Given the description of an element on the screen output the (x, y) to click on. 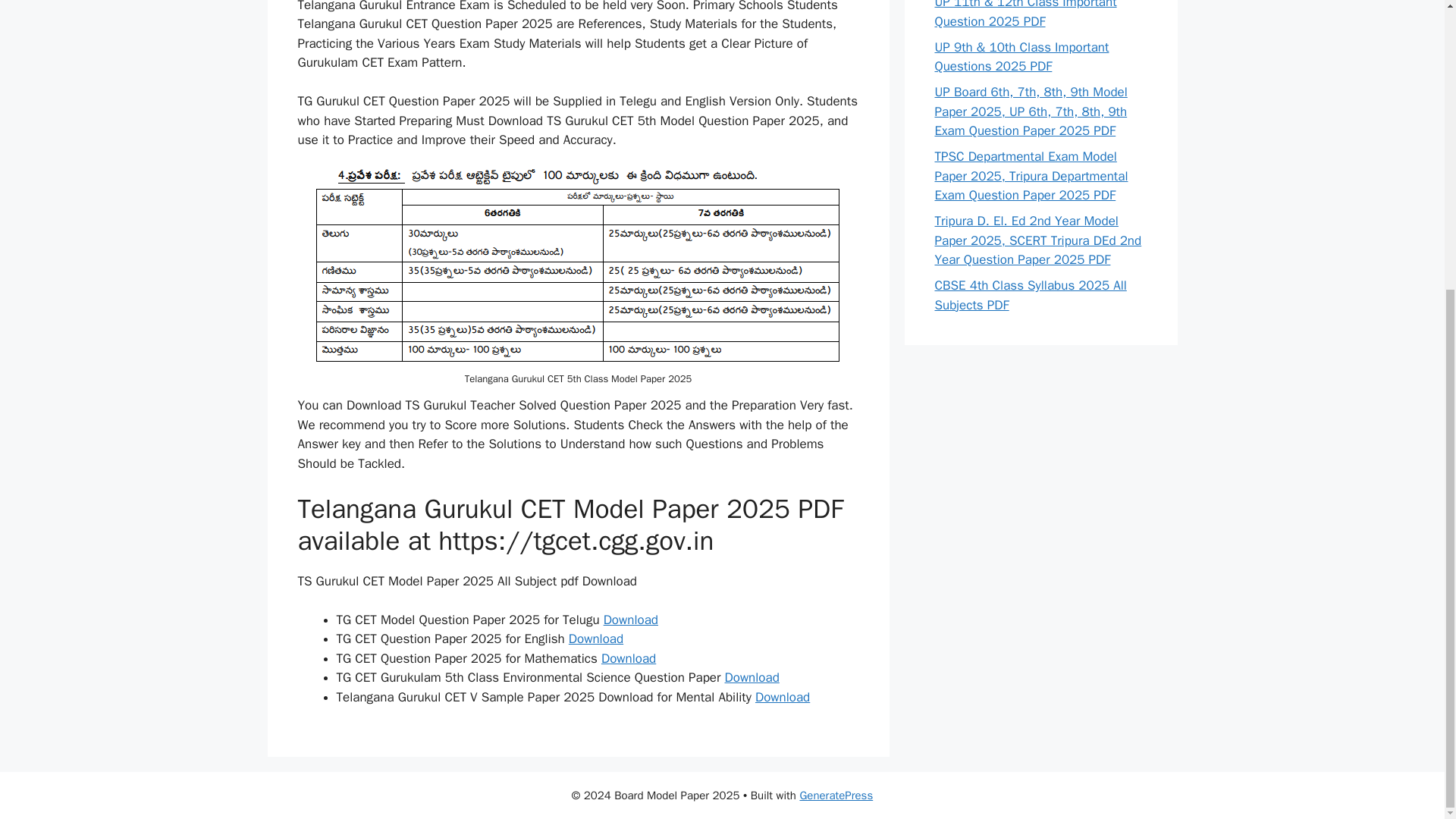
Download (596, 638)
Download (631, 619)
CBSE 4th Class Syllabus 2025 All Subjects PDF (1029, 294)
Download (628, 658)
Download (782, 697)
GeneratePress (835, 795)
Download (751, 677)
